Given the description of an element on the screen output the (x, y) to click on. 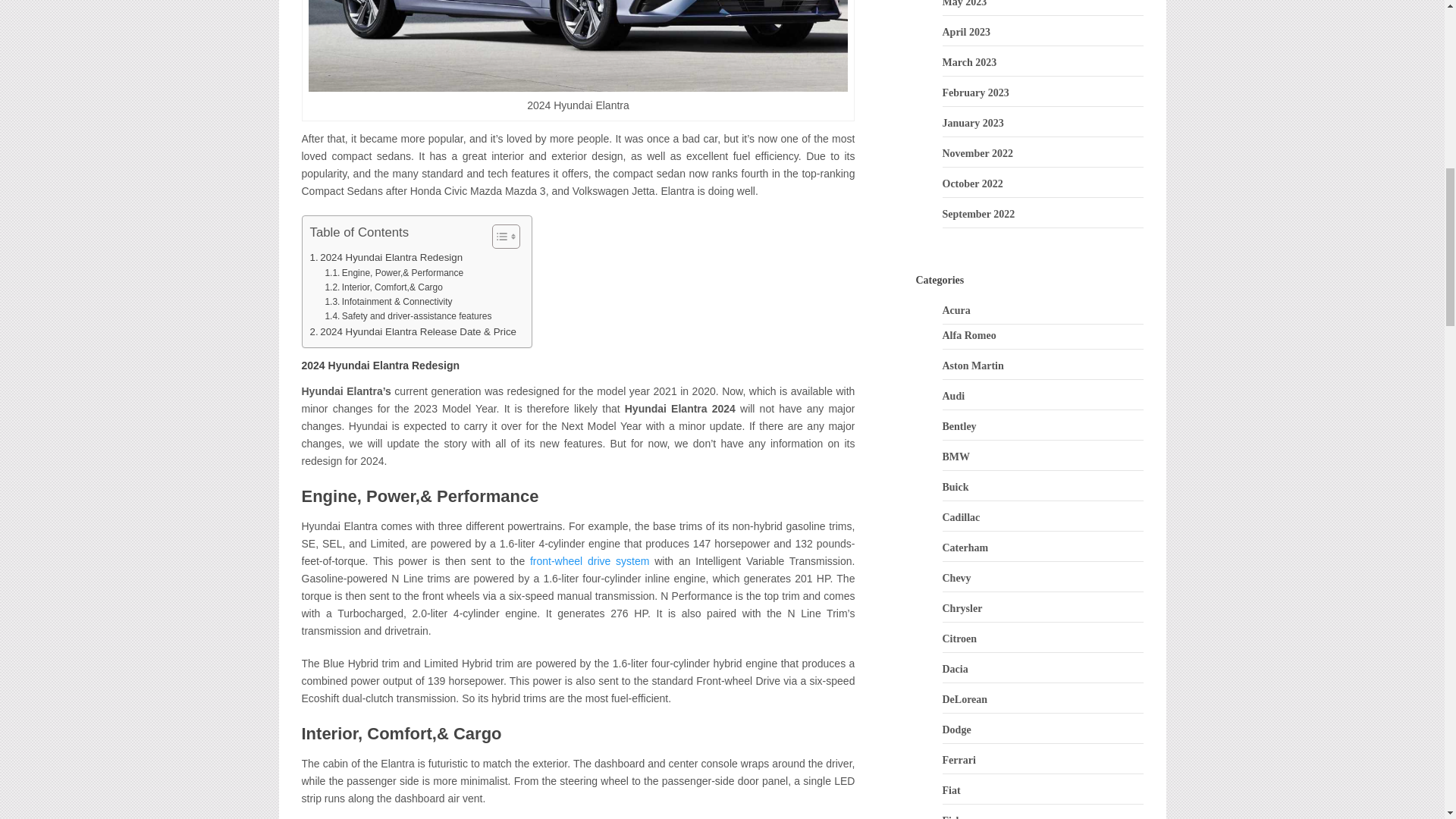
2024 Hyundai Elantra Redesign (385, 257)
Safety and driver-assistance features (408, 316)
